Given the description of an element on the screen output the (x, y) to click on. 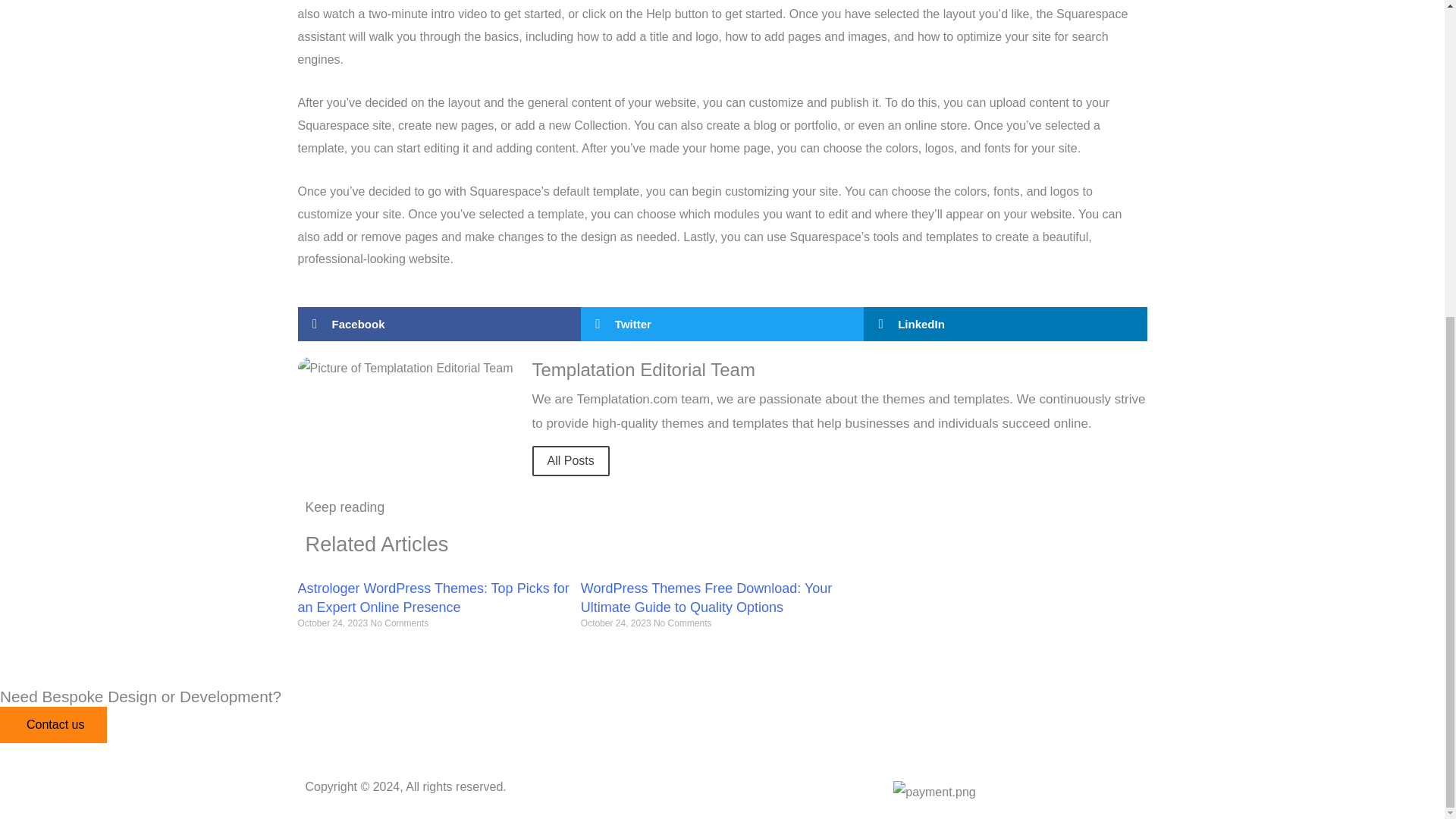
payment.png (934, 792)
All Posts (571, 460)
Contact us (53, 724)
